Given the description of an element on the screen output the (x, y) to click on. 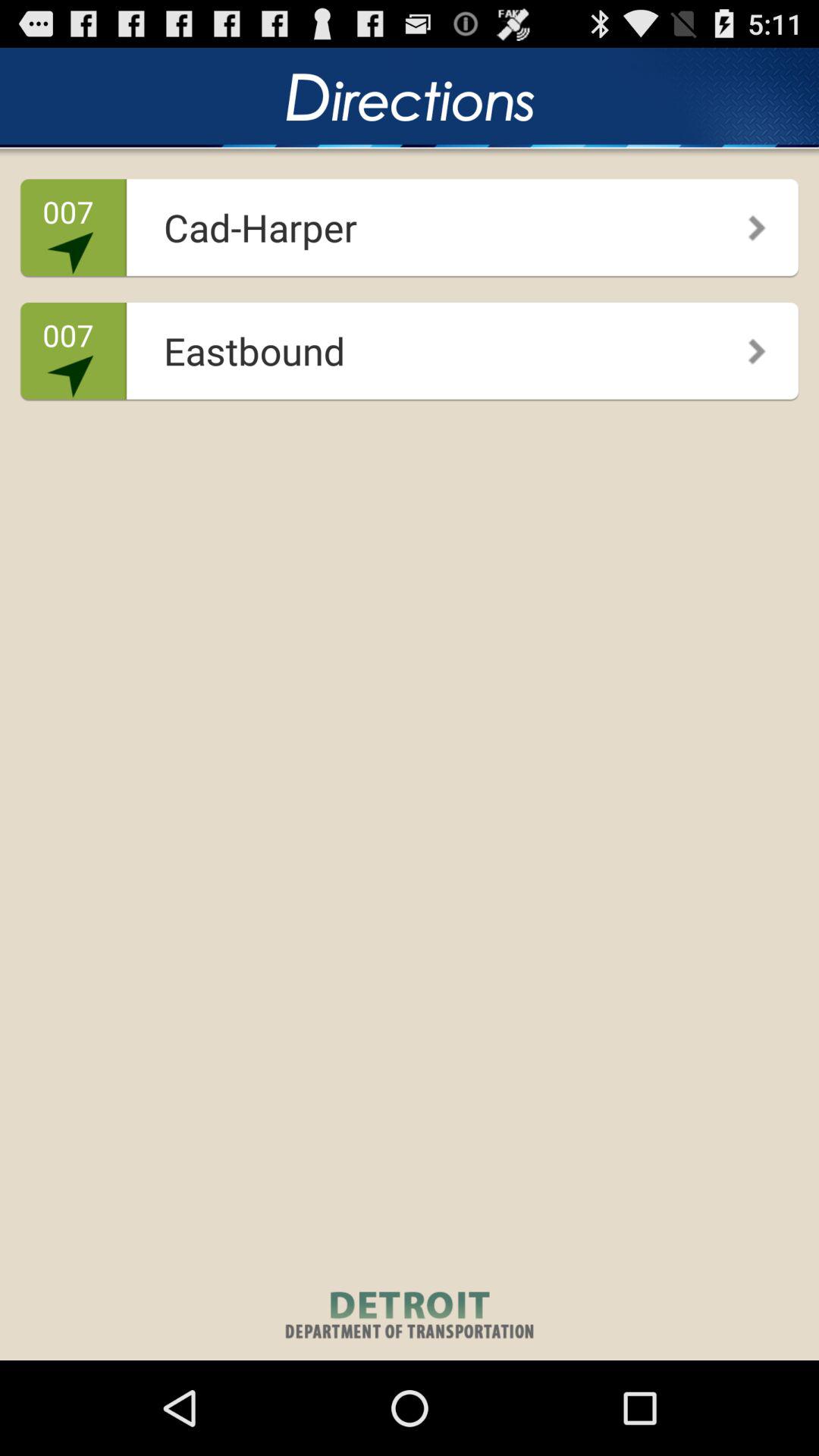
choose eastbound (404, 345)
